Given the description of an element on the screen output the (x, y) to click on. 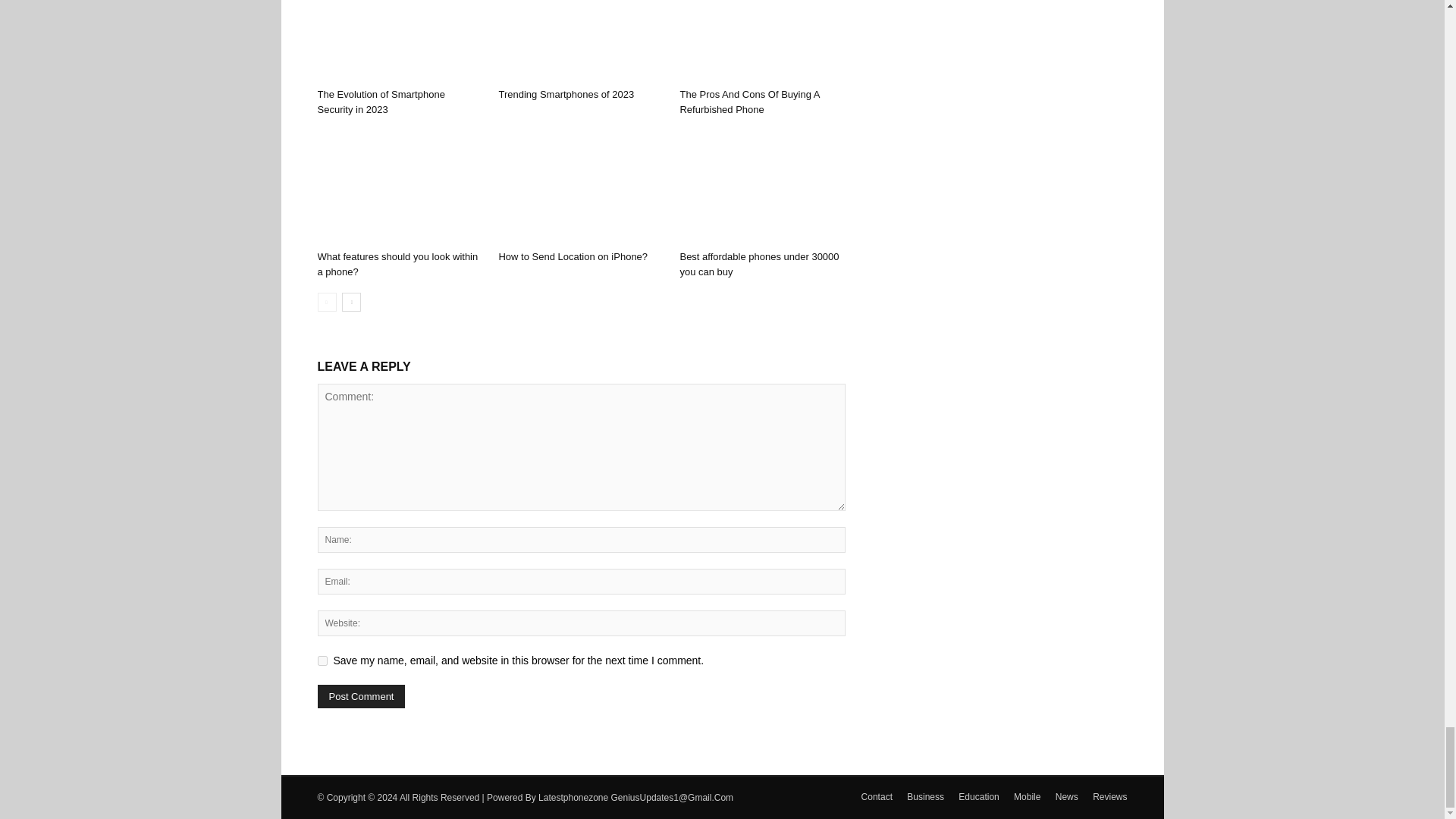
The Evolution of Smartphone Security in 2023 (380, 101)
Post Comment (360, 696)
The Evolution of Smartphone Security in 2023 (399, 40)
yes (321, 660)
